Given the description of an element on the screen output the (x, y) to click on. 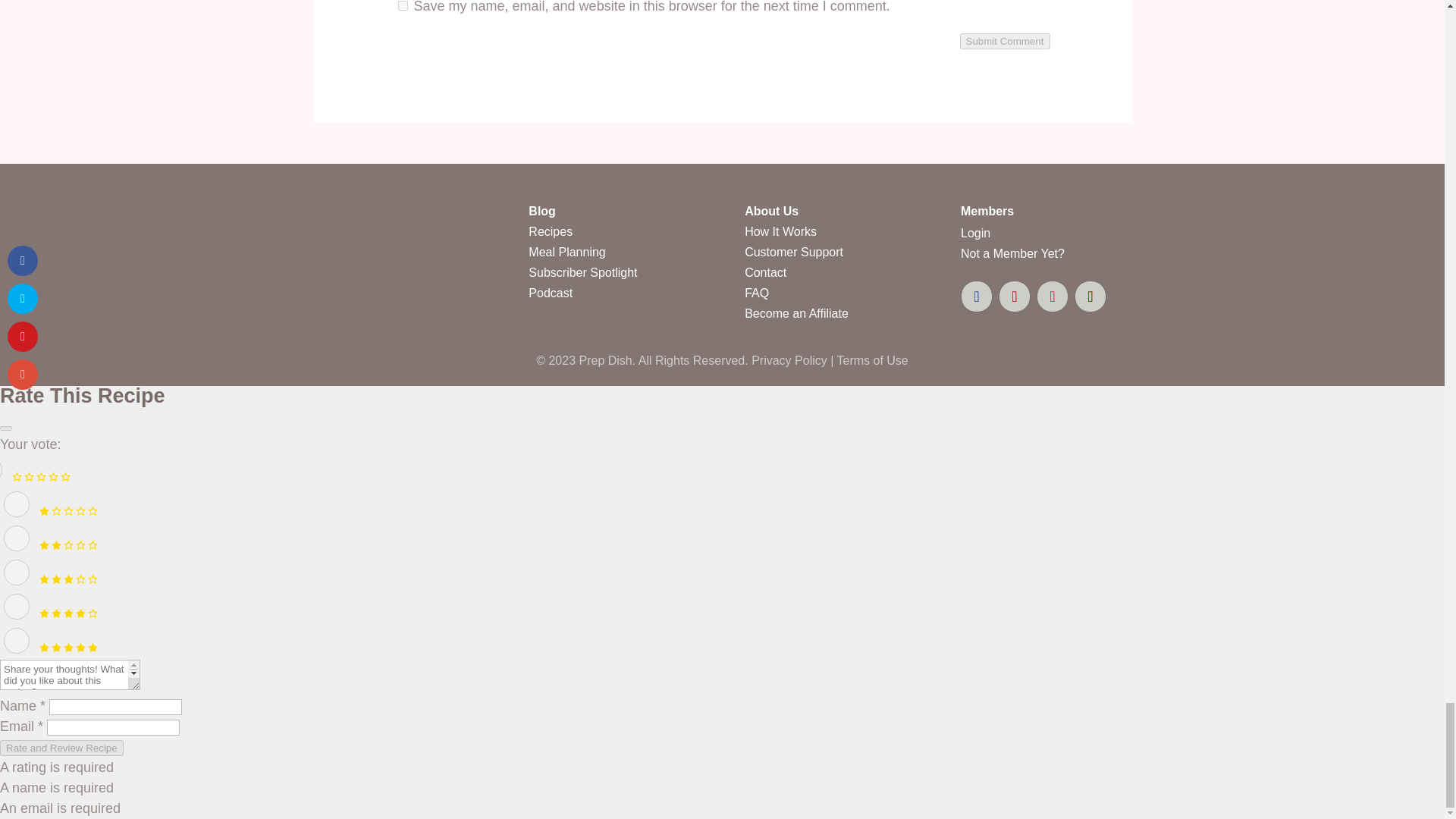
Prep Dish Meal Prep Made Easy (350, 283)
Follow on Youtube (1090, 296)
3 (16, 572)
5 (16, 640)
yes (402, 5)
1 (16, 503)
2 (16, 538)
Follow on Instagram (1052, 296)
Subscriber Spotlight (582, 272)
Follow on Facebook (976, 296)
Blog (542, 210)
Submit Comment (1004, 41)
Recipes (550, 231)
Meal Planning (566, 251)
4 (16, 606)
